Given the description of an element on the screen output the (x, y) to click on. 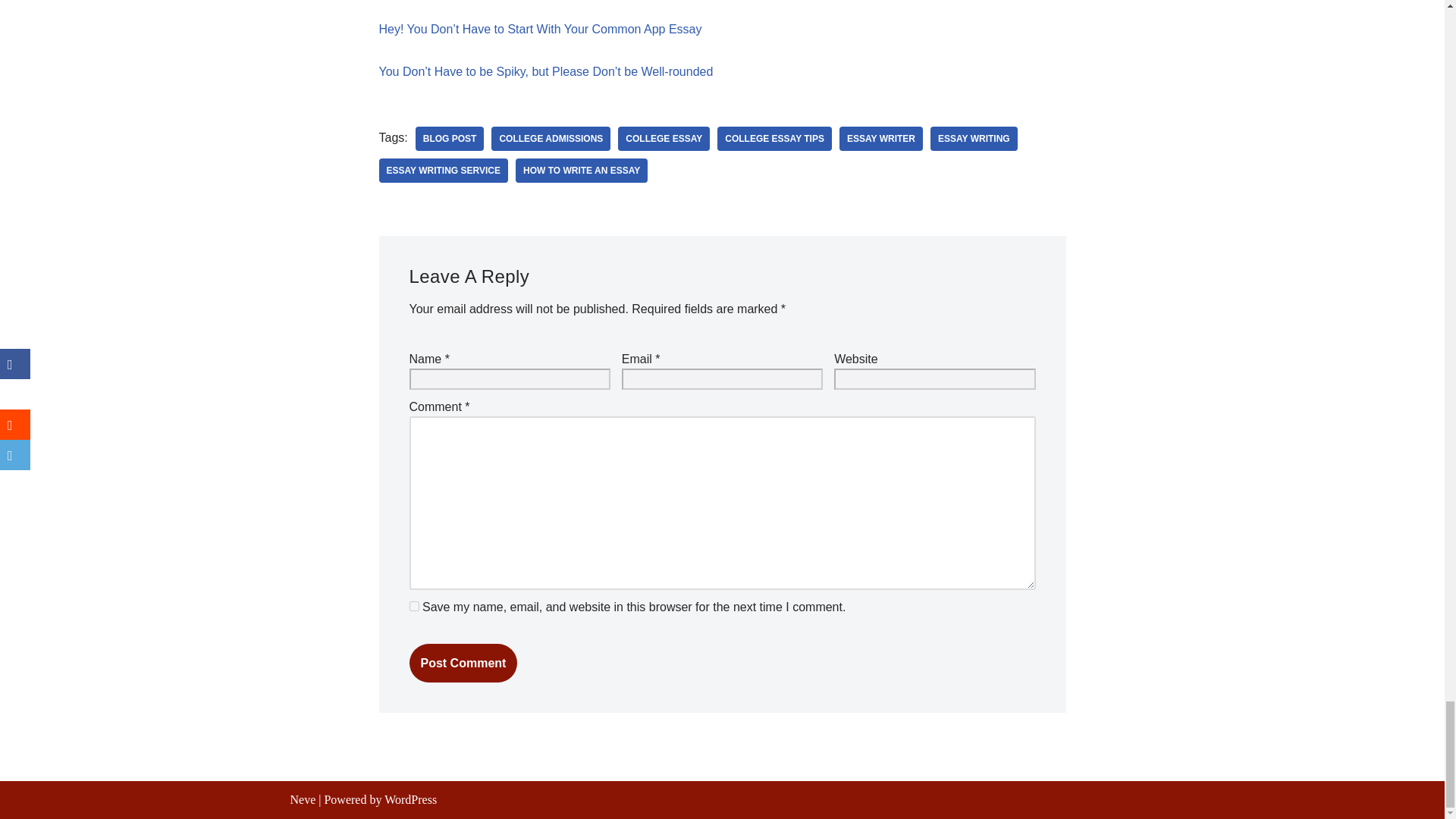
Post Comment (463, 663)
yes (414, 605)
College Admissions (551, 138)
college essay tips (774, 138)
ESSAY WRITER (881, 138)
BLOG POST (449, 138)
COLLEGE ESSAY TIPS (774, 138)
College Essay (663, 138)
ESSAY WRITING (973, 138)
COLLEGE ESSAY (663, 138)
